Given the description of an element on the screen output the (x, y) to click on. 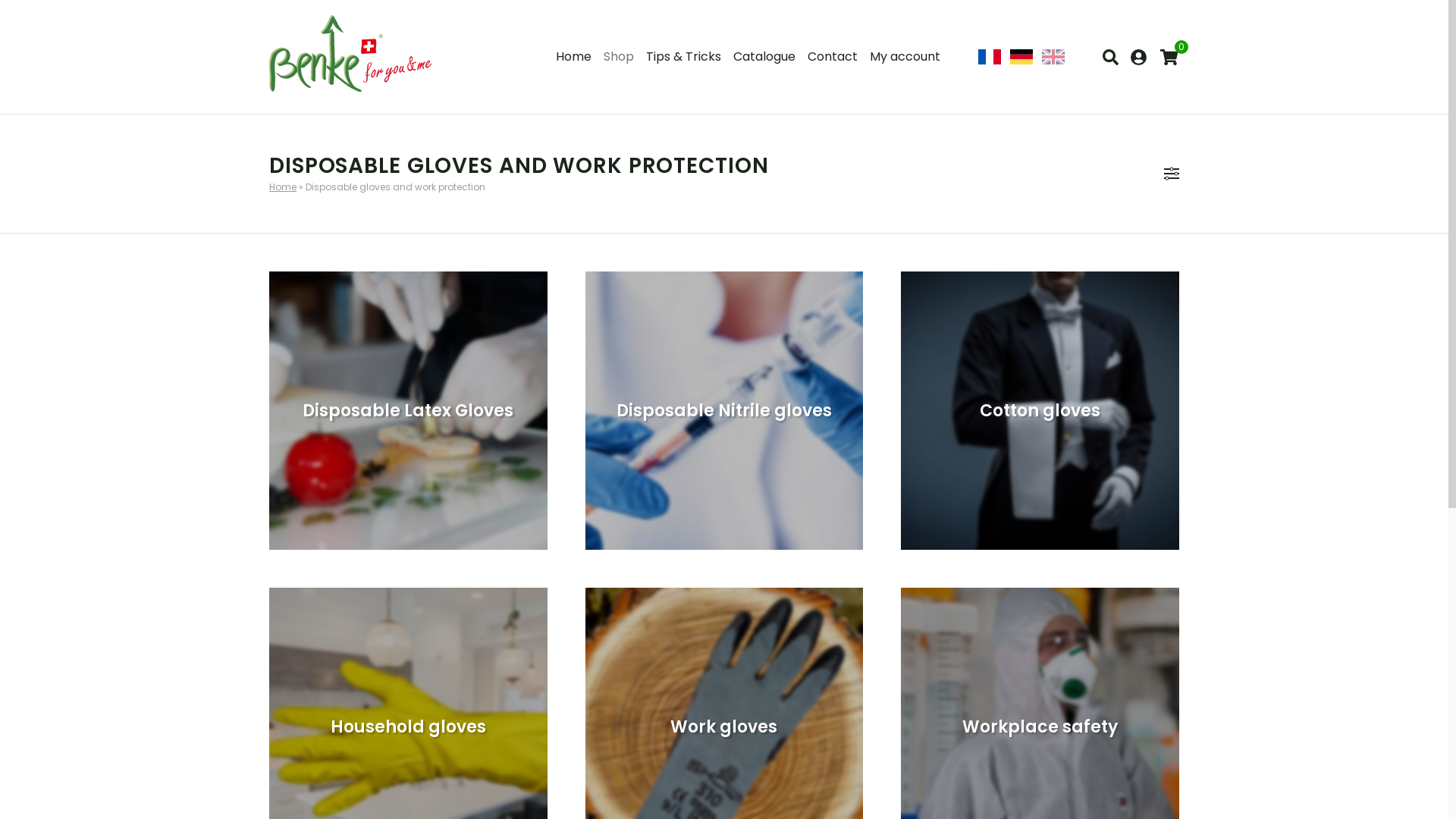
Shop Element type: text (618, 56)
My account Element type: text (904, 56)
Catalogue Element type: text (764, 56)
Home Element type: text (282, 186)
Contact Element type: text (832, 56)
Home Element type: text (573, 56)
search Element type: text (1110, 57)
your account Element type: text (1138, 57)
Disposable Latex Gloves Element type: text (408, 410)
Tips & Tricks Element type: text (683, 56)
Cotton gloves Element type: text (1039, 410)
shopping cart
0 Element type: text (1168, 57)
Disposable Nitrile gloves Element type: text (724, 410)
Filter Element type: text (1171, 173)
